Given the description of an element on the screen output the (x, y) to click on. 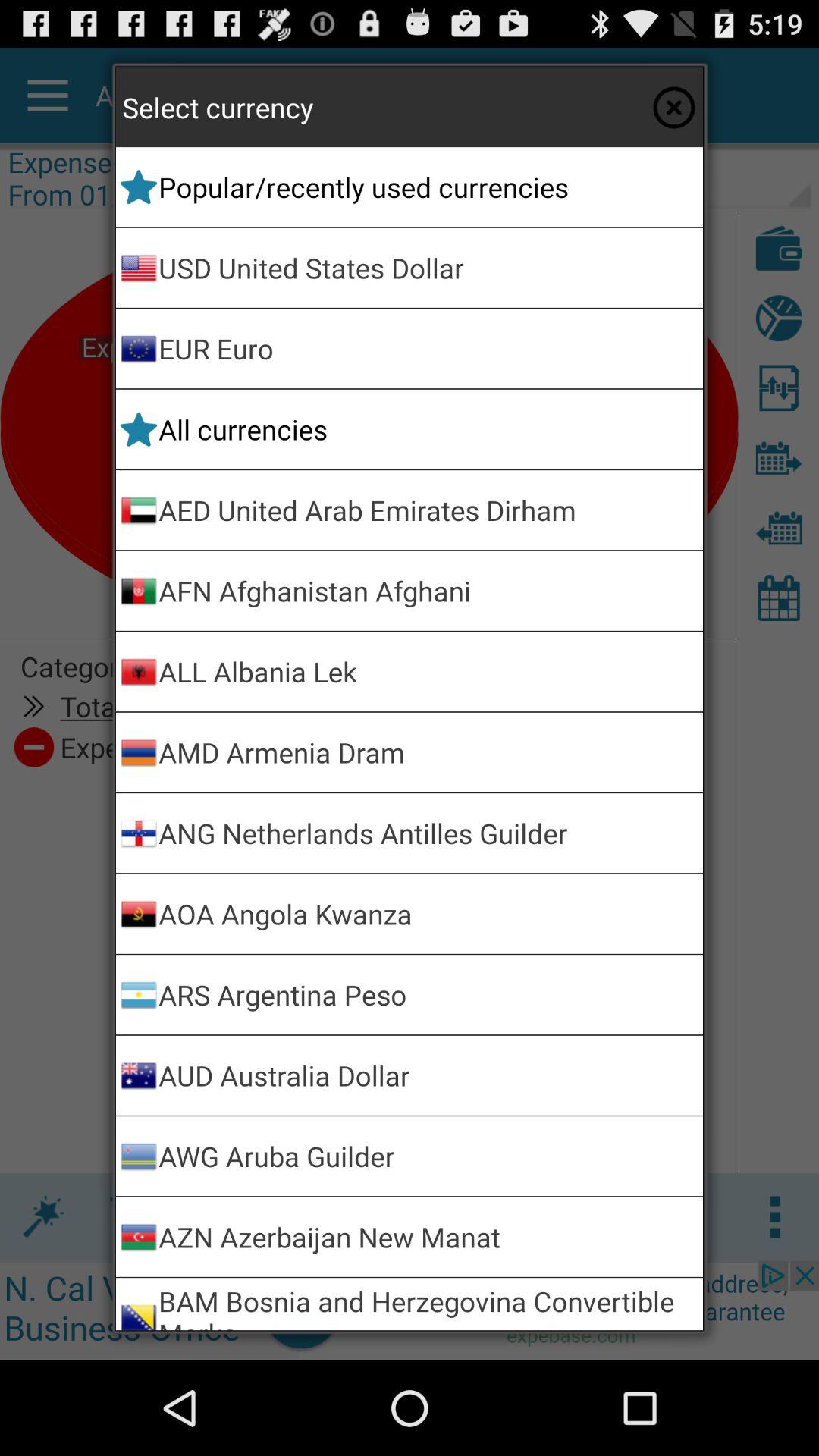
close menu (673, 107)
